Given the description of an element on the screen output the (x, y) to click on. 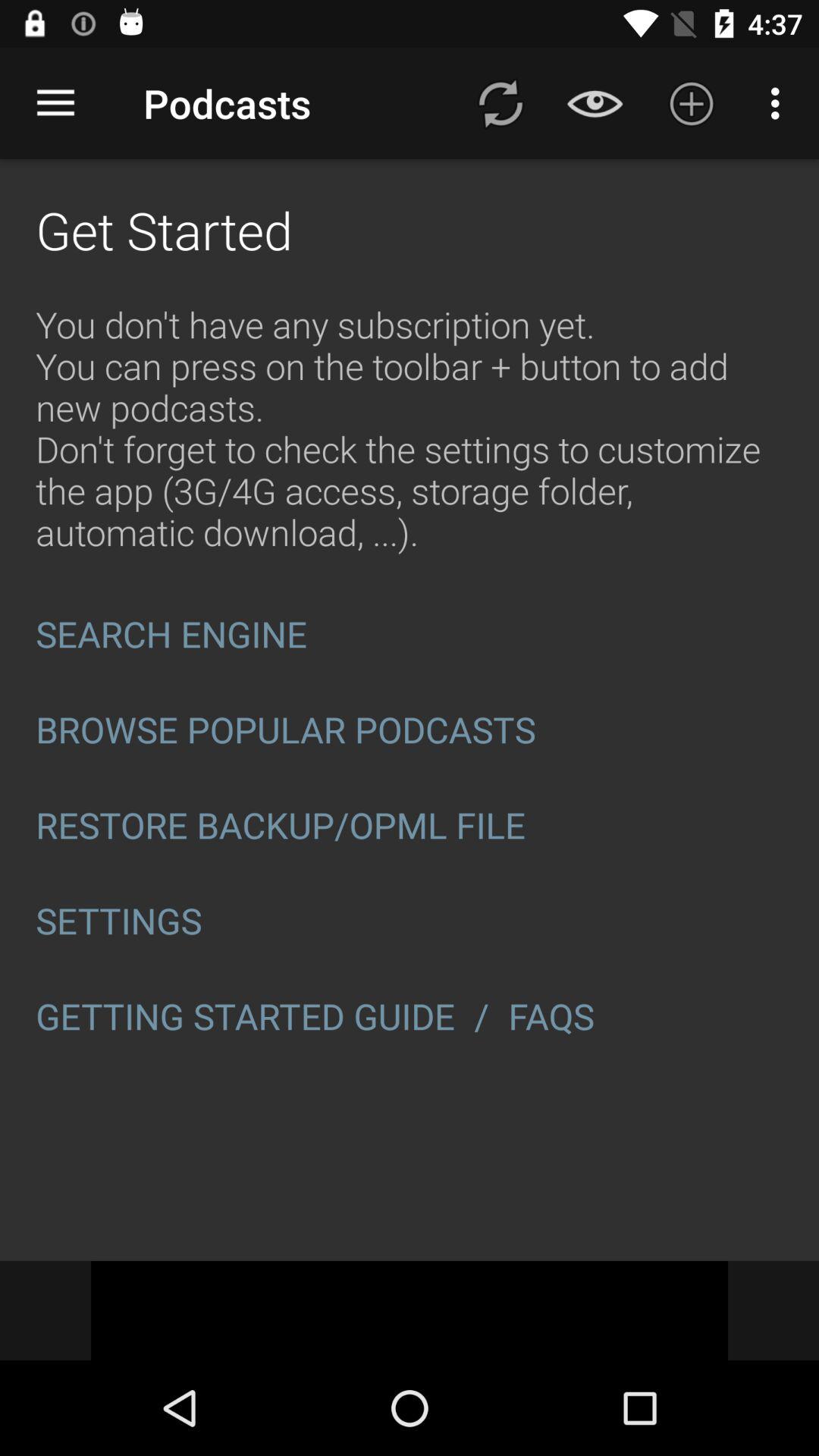
turn off the icon above the get started icon (55, 103)
